Given the description of an element on the screen output the (x, y) to click on. 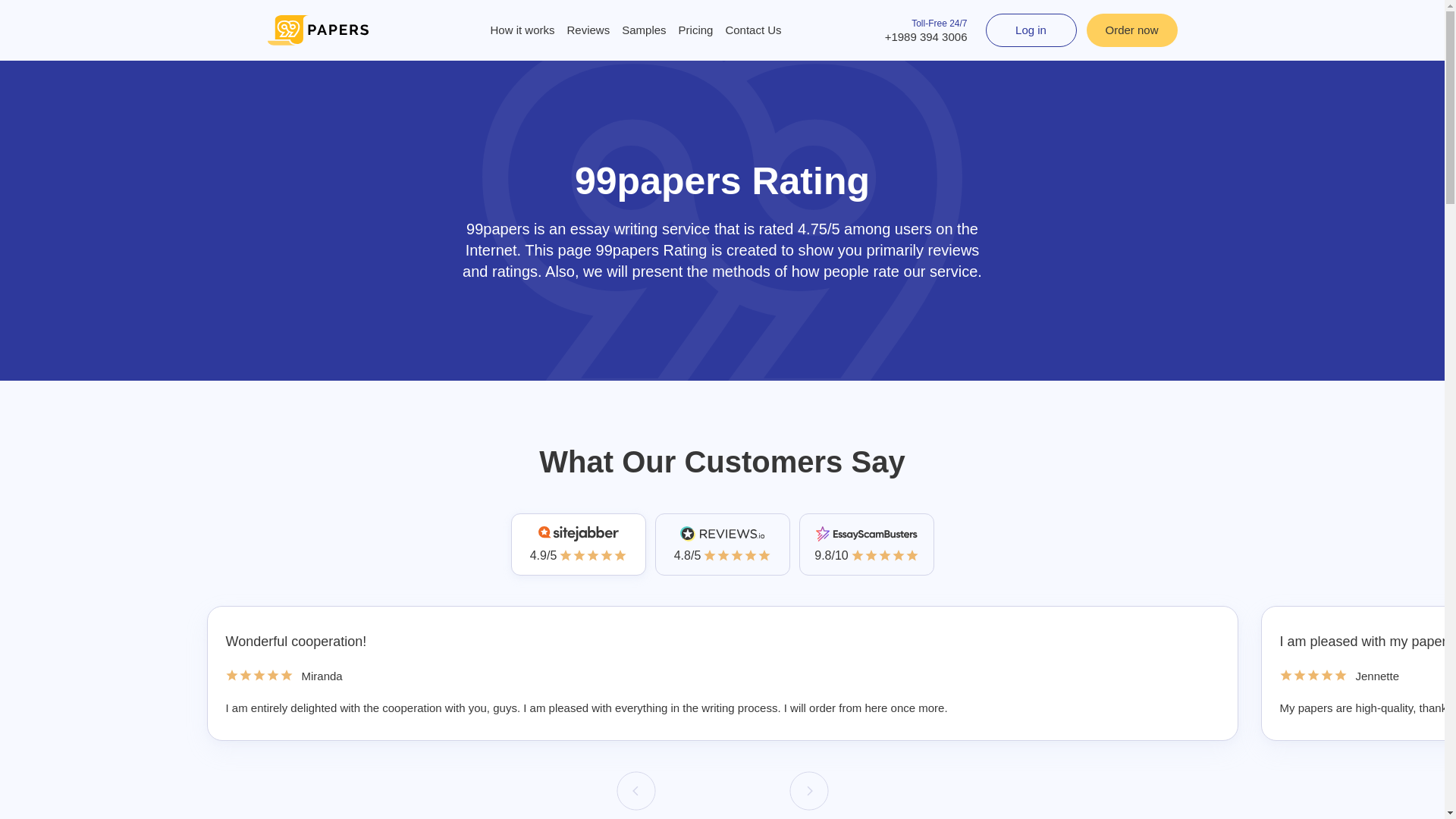
Paper Writing Service (317, 30)
free essay samples and examples for college (643, 29)
essay writing pricing (695, 29)
Order now (1131, 29)
Contact Us (753, 29)
How it works (521, 29)
Reviews (587, 29)
99papers support (753, 29)
Samples (643, 29)
Pricing (695, 29)
